Given the description of an element on the screen output the (x, y) to click on. 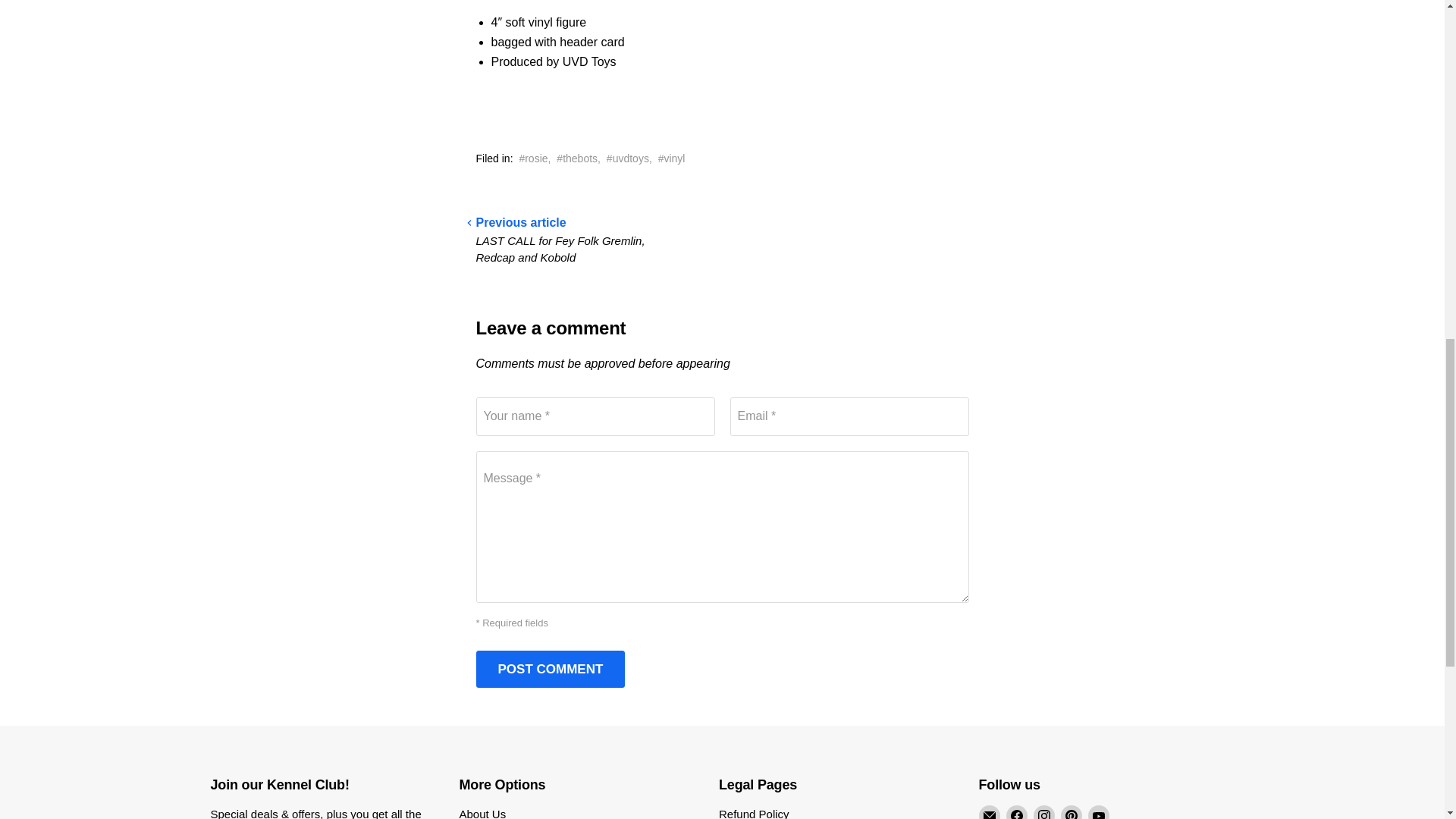
YouTube (1097, 812)
Facebook (1016, 812)
Email (988, 812)
Instagram (1043, 812)
Pinterest (1070, 812)
